Given the description of an element on the screen output the (x, y) to click on. 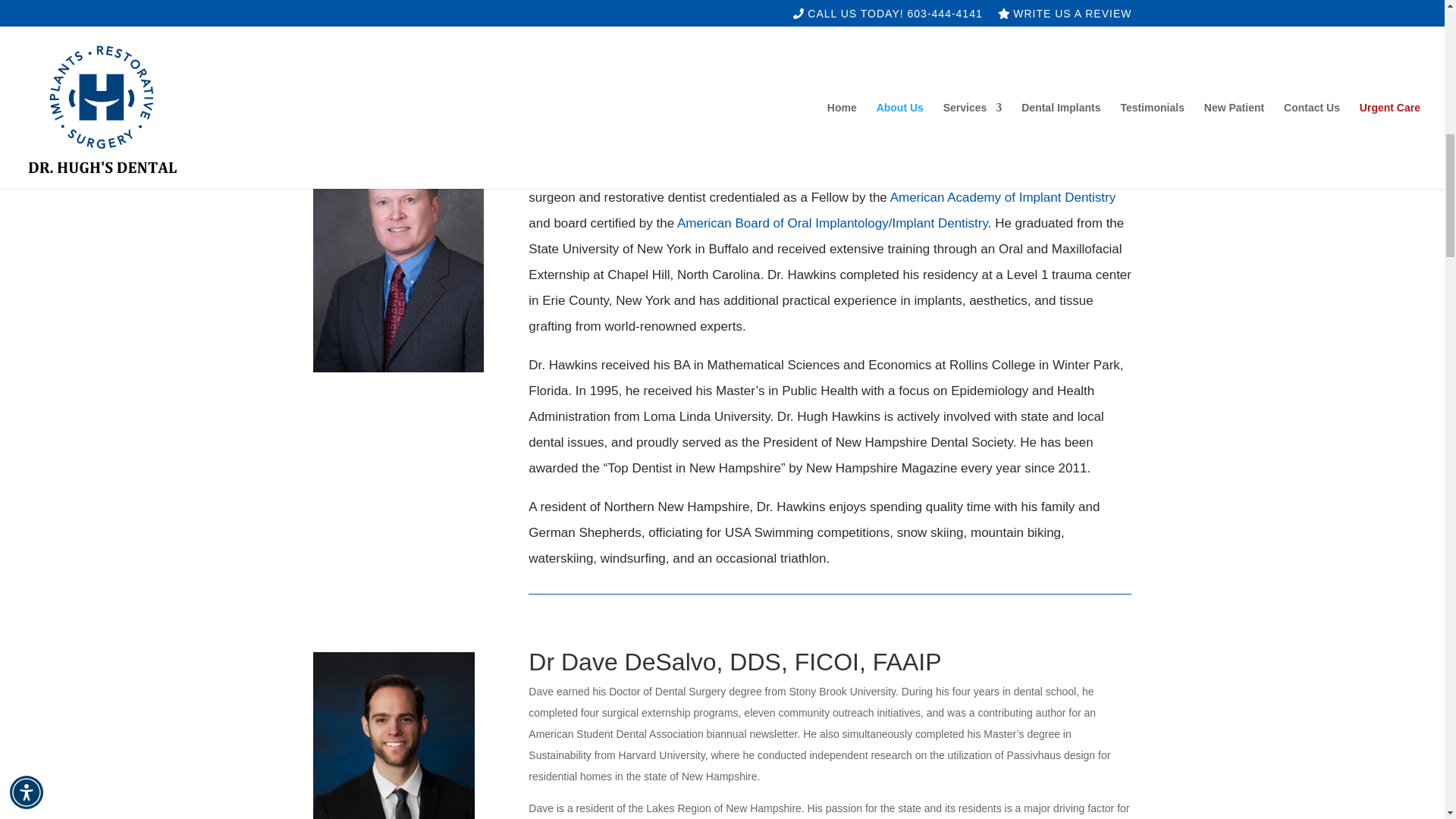
American Academy of Implant Dentistry (1002, 197)
